Given the description of an element on the screen output the (x, y) to click on. 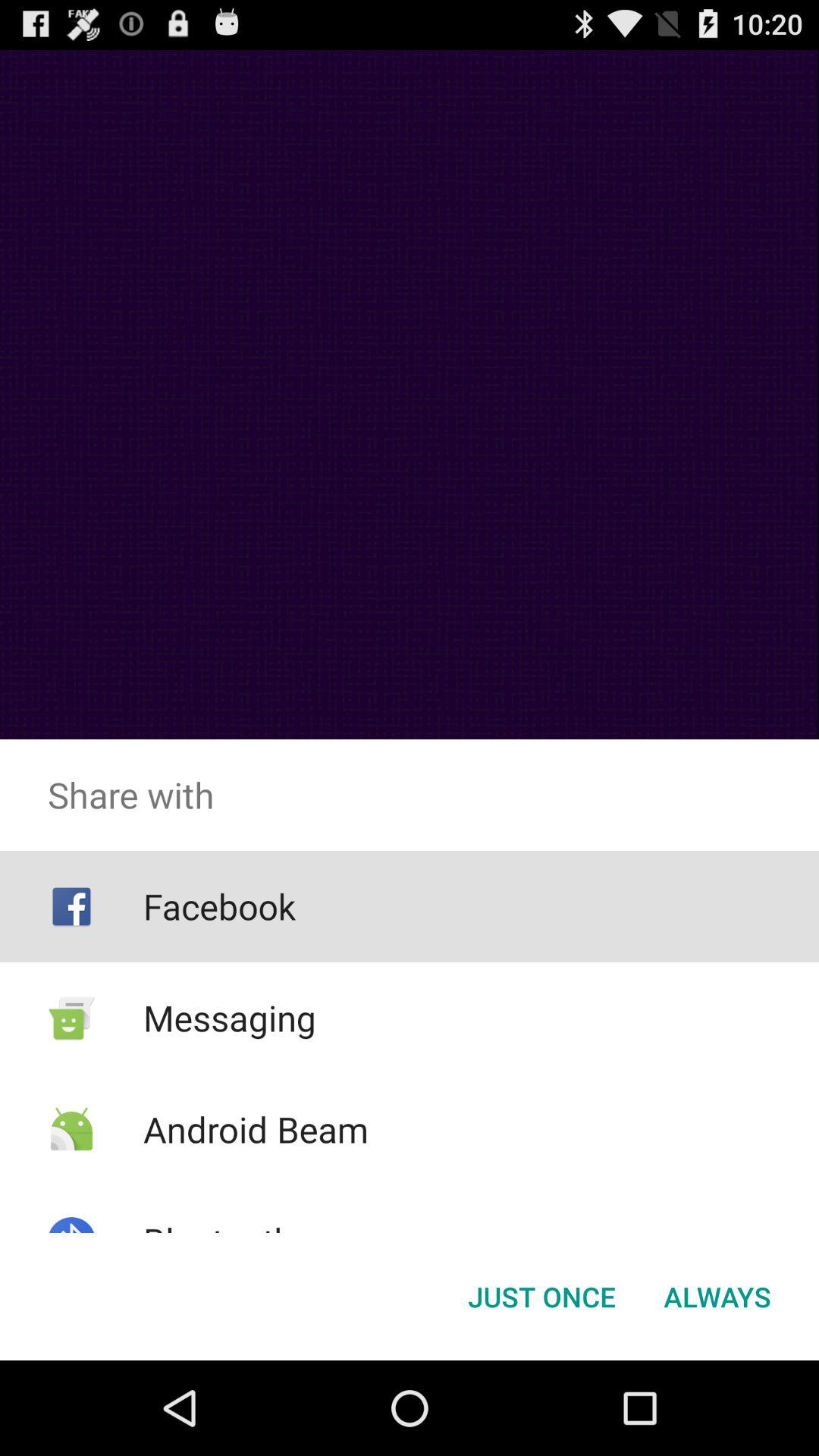
turn off icon next to always button (541, 1296)
